Given the description of an element on the screen output the (x, y) to click on. 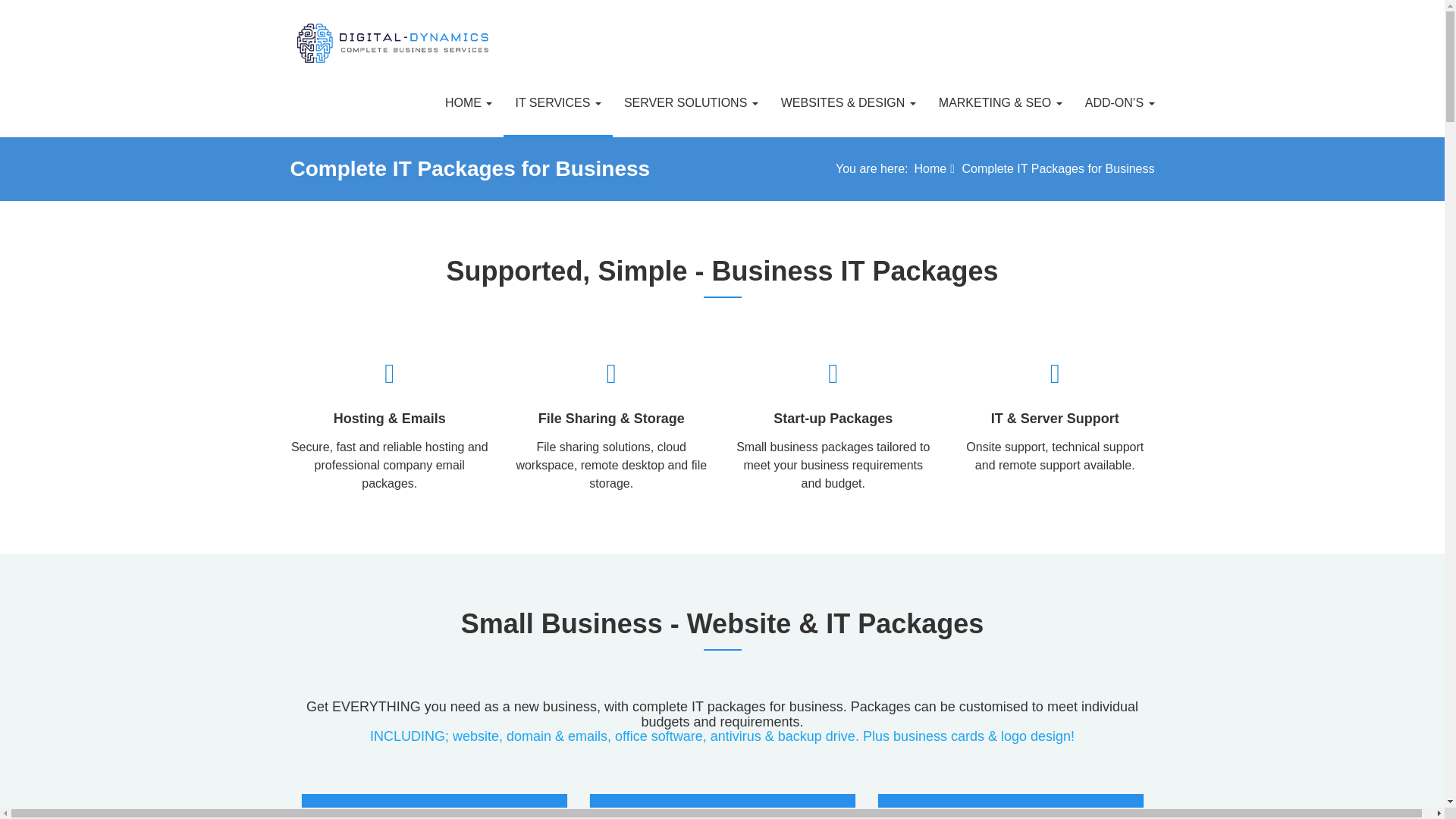
Home (468, 102)
SERVER SOLUTIONS (691, 102)
Server Solutions (691, 102)
IT Services (557, 102)
HOME (468, 102)
IT SERVICES (557, 102)
